Given the description of an element on the screen output the (x, y) to click on. 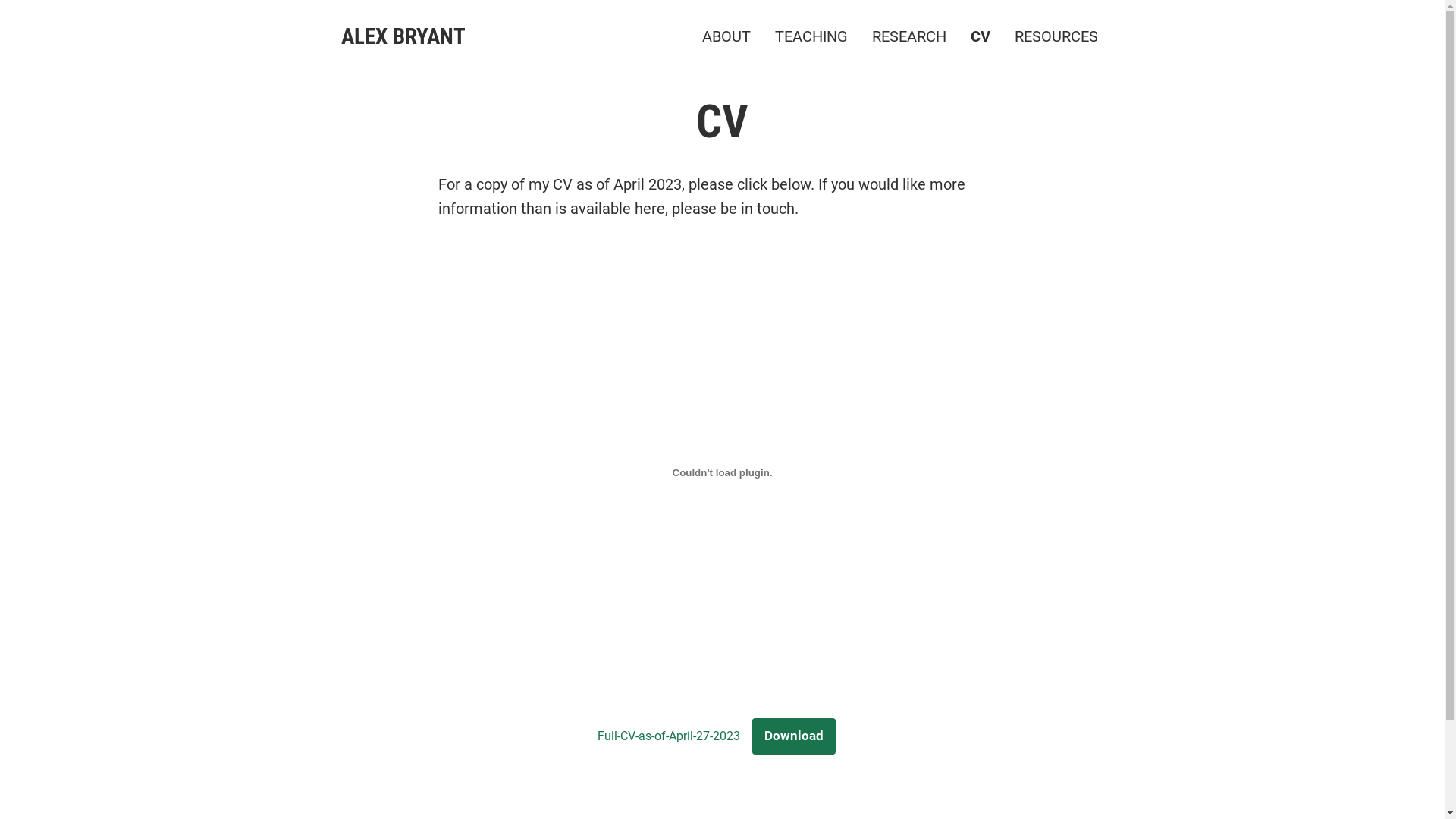
Download Element type: text (793, 736)
TEACHING Element type: text (811, 35)
ALEX BRYANT Element type: text (403, 36)
CV Element type: text (980, 35)
RESEARCH Element type: text (909, 35)
RESOURCES Element type: text (1056, 35)
ABOUT Element type: text (726, 35)
Full-CV-as-of-April-27-2023 Element type: text (668, 735)
